Given the description of an element on the screen output the (x, y) to click on. 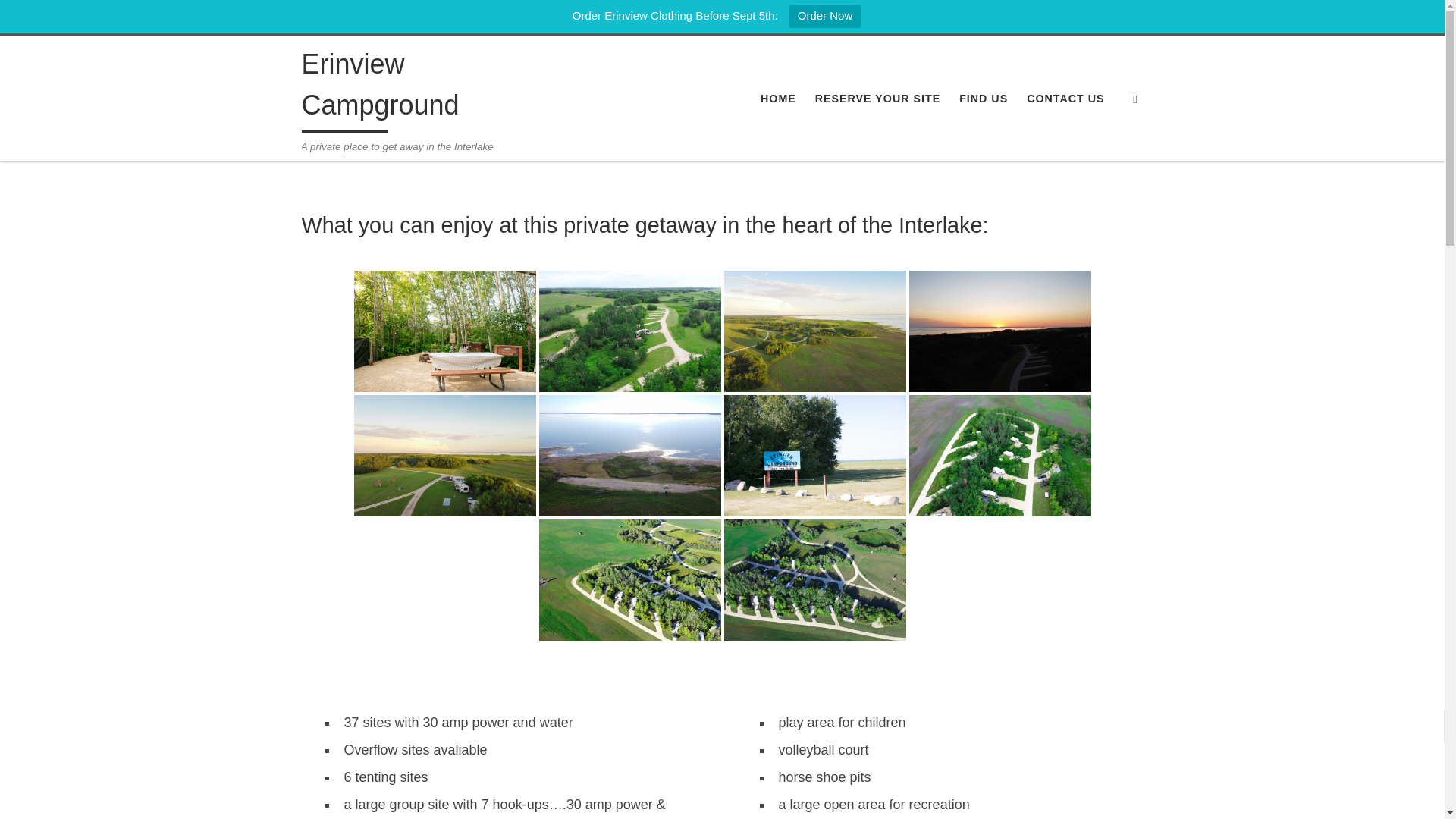
Erinview Campground Skyview6 (629, 455)
Erinview Campground (444, 331)
FIND US (984, 98)
Order Now (825, 15)
RESERVE YOUR SITE (877, 98)
Erinview Campground Skyview4 (999, 331)
Erinview Campground Skyview5 (444, 455)
HOME (777, 98)
Erinview Campground Skyview8 (629, 331)
Erinview Campground (432, 88)
